Given the description of an element on the screen output the (x, y) to click on. 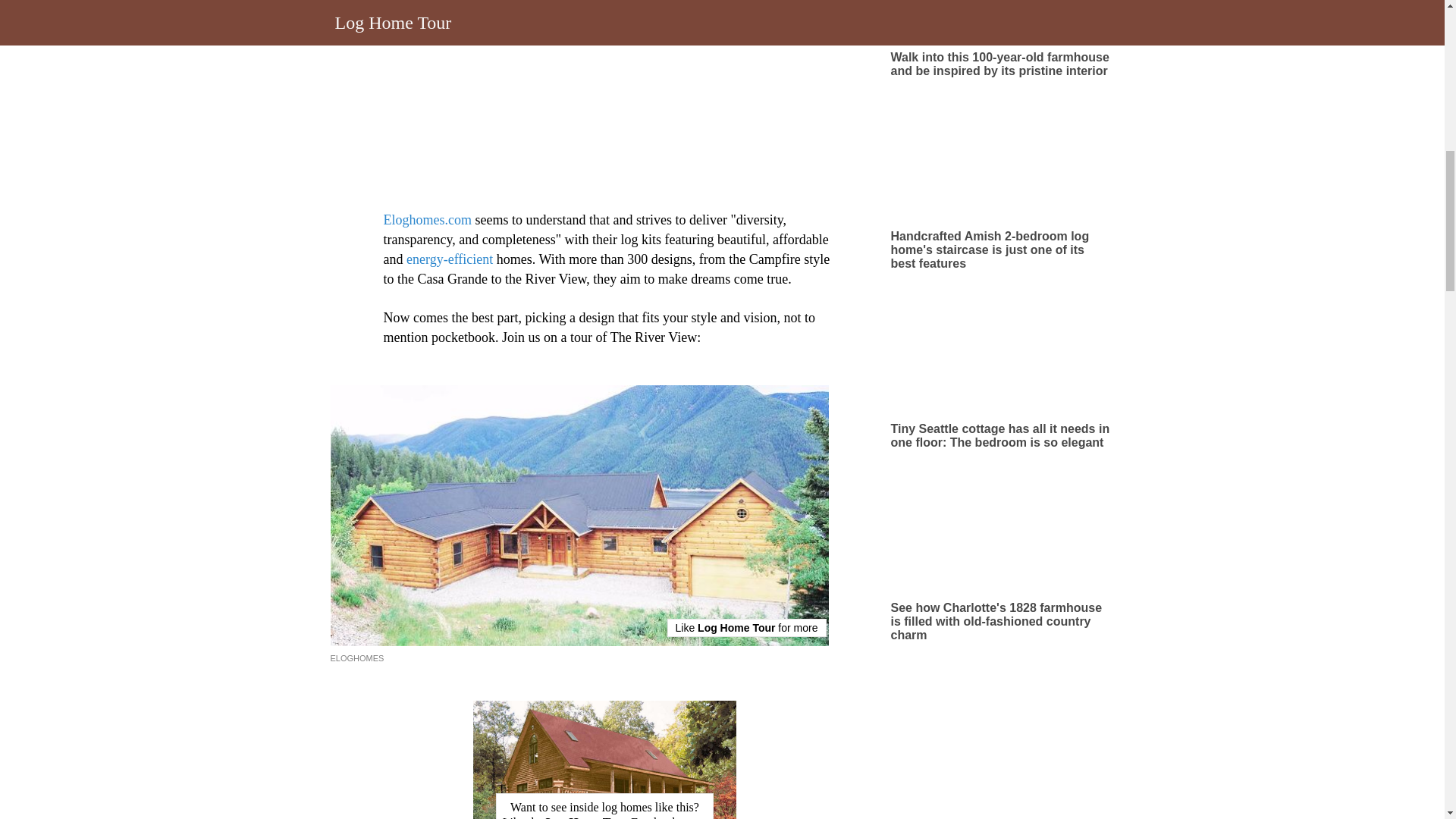
Do Not Sell My Info (870, 62)
About Ads (645, 62)
energy-efficient (449, 258)
Eloghomes.com (427, 219)
ELOGHOMES (357, 657)
Terms of Use (710, 62)
